Given the description of an element on the screen output the (x, y) to click on. 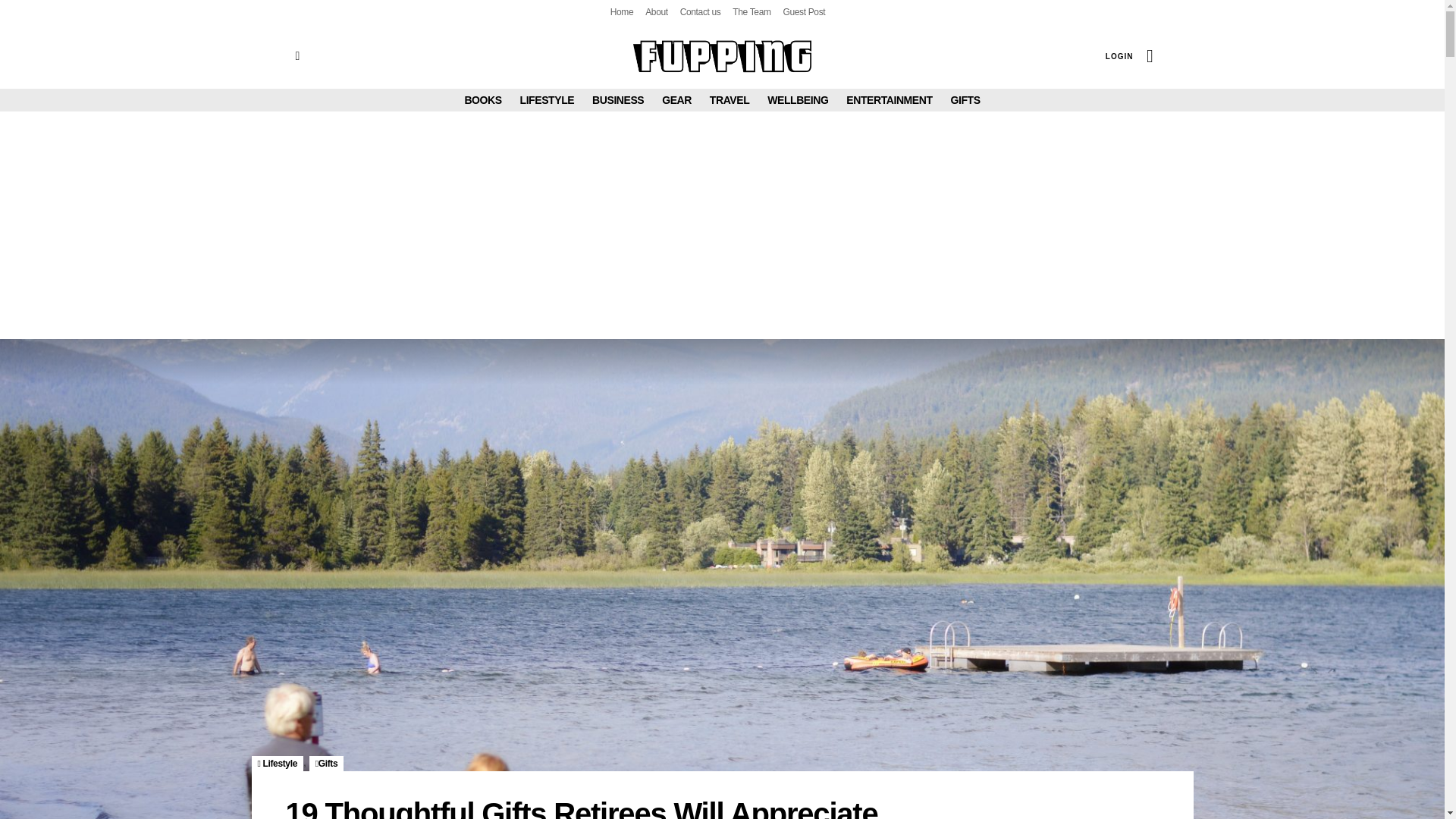
LIFESTYLE (547, 99)
Guest Post (804, 12)
BOOKS (482, 99)
TRAVEL (729, 99)
Home (621, 12)
WELLBEING (797, 99)
LOGIN (1119, 56)
Menu (296, 55)
ENTERTAINMENT (888, 99)
About (656, 12)
GIFTS (964, 99)
BUSINESS (617, 99)
GEAR (675, 99)
The Team (751, 12)
